Given the description of an element on the screen output the (x, y) to click on. 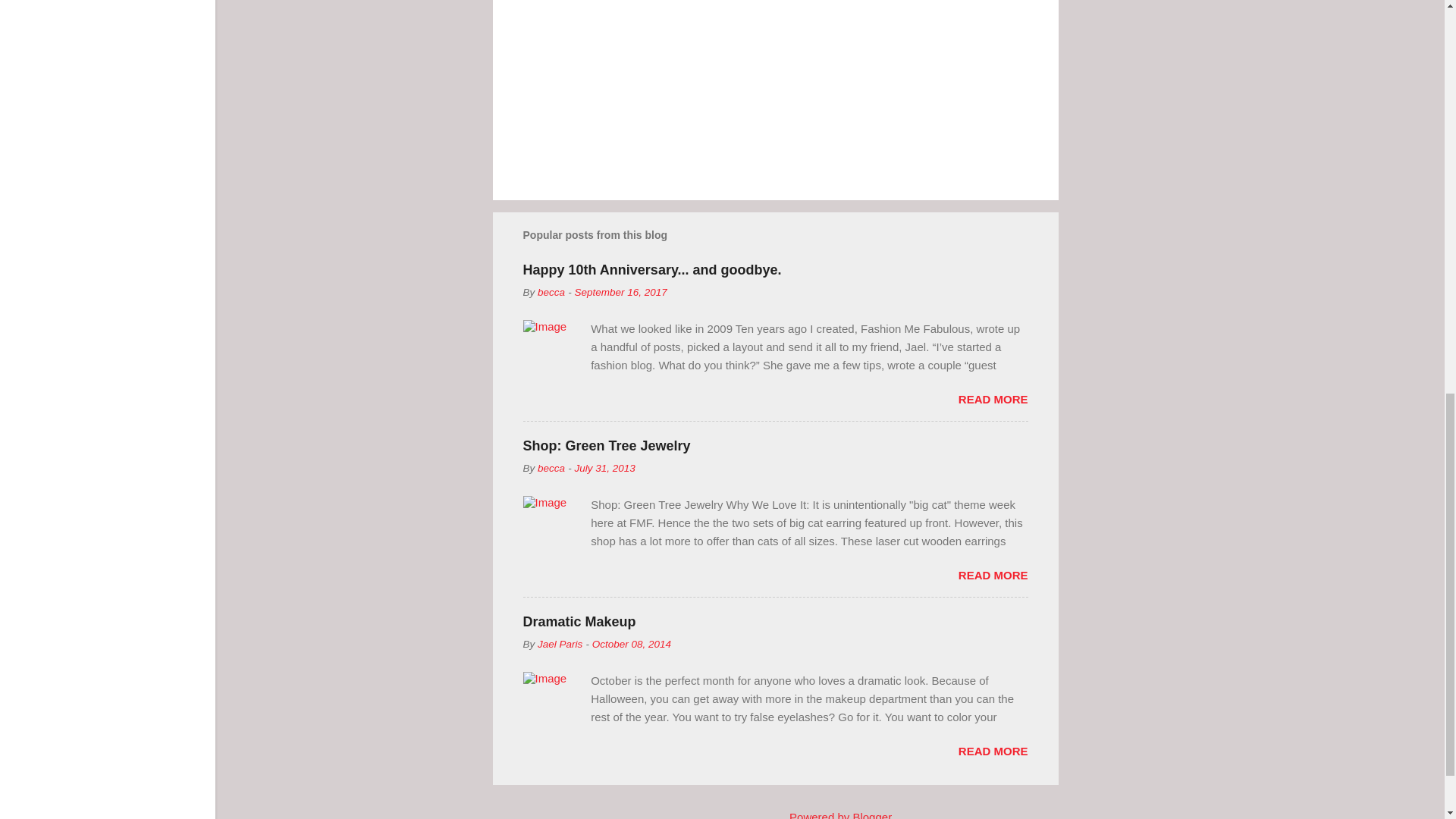
READ MORE (992, 574)
Jael Paris (559, 644)
Shop: Green Tree Jewelry (606, 445)
READ MORE (992, 750)
September 16, 2017 (619, 292)
Dramatic Makeup (579, 621)
July 31, 2013 (603, 468)
READ MORE (992, 399)
Happy 10th Anniversary... and goodbye. (651, 269)
October 08, 2014 (631, 644)
Advertisement (1118, 90)
Powered by Blogger (829, 814)
becca (550, 468)
becca (550, 292)
